Given the description of an element on the screen output the (x, y) to click on. 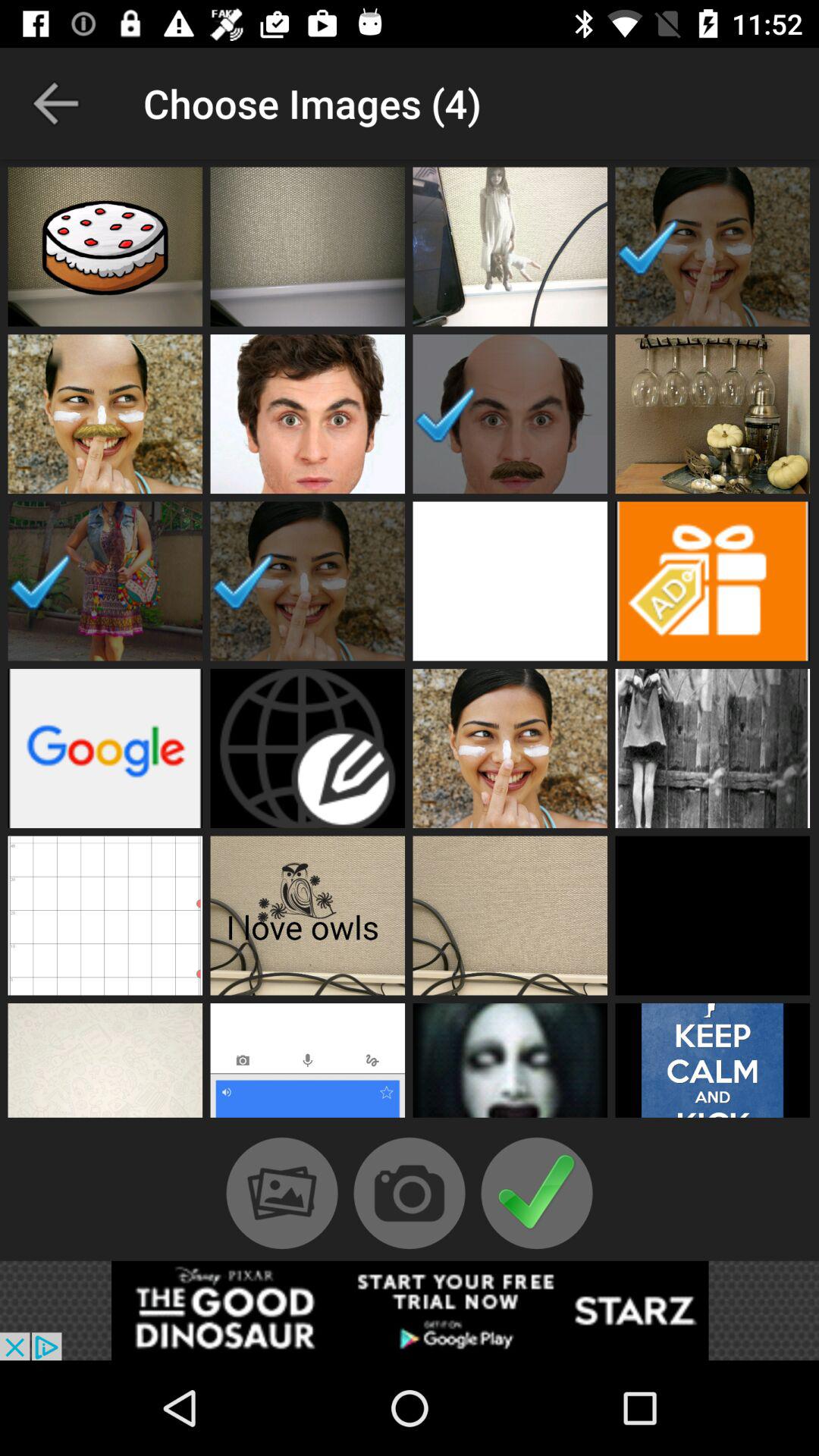
choose image (712, 915)
